Given the description of an element on the screen output the (x, y) to click on. 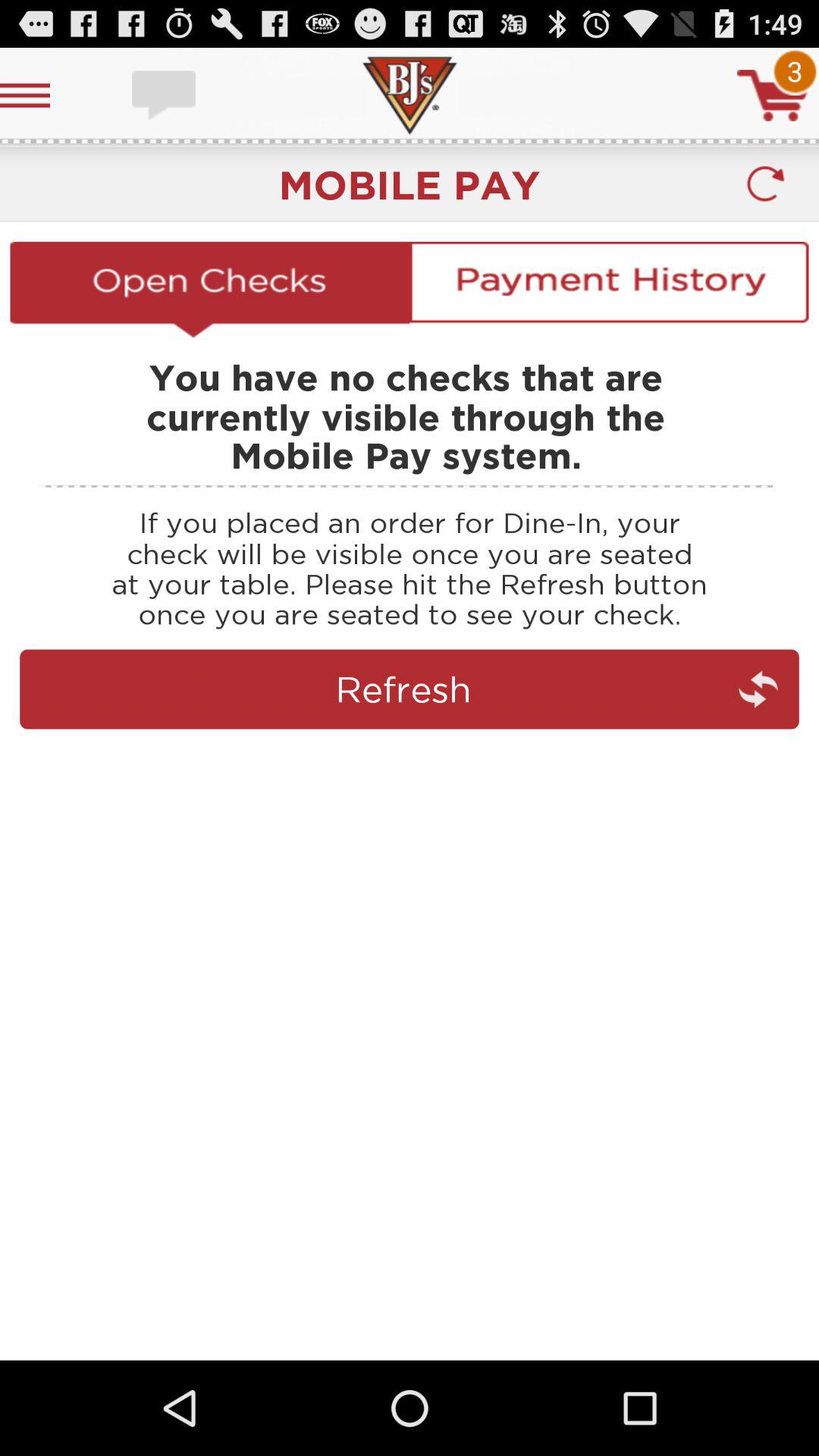
view payment history button (608, 289)
